Given the description of an element on the screen output the (x, y) to click on. 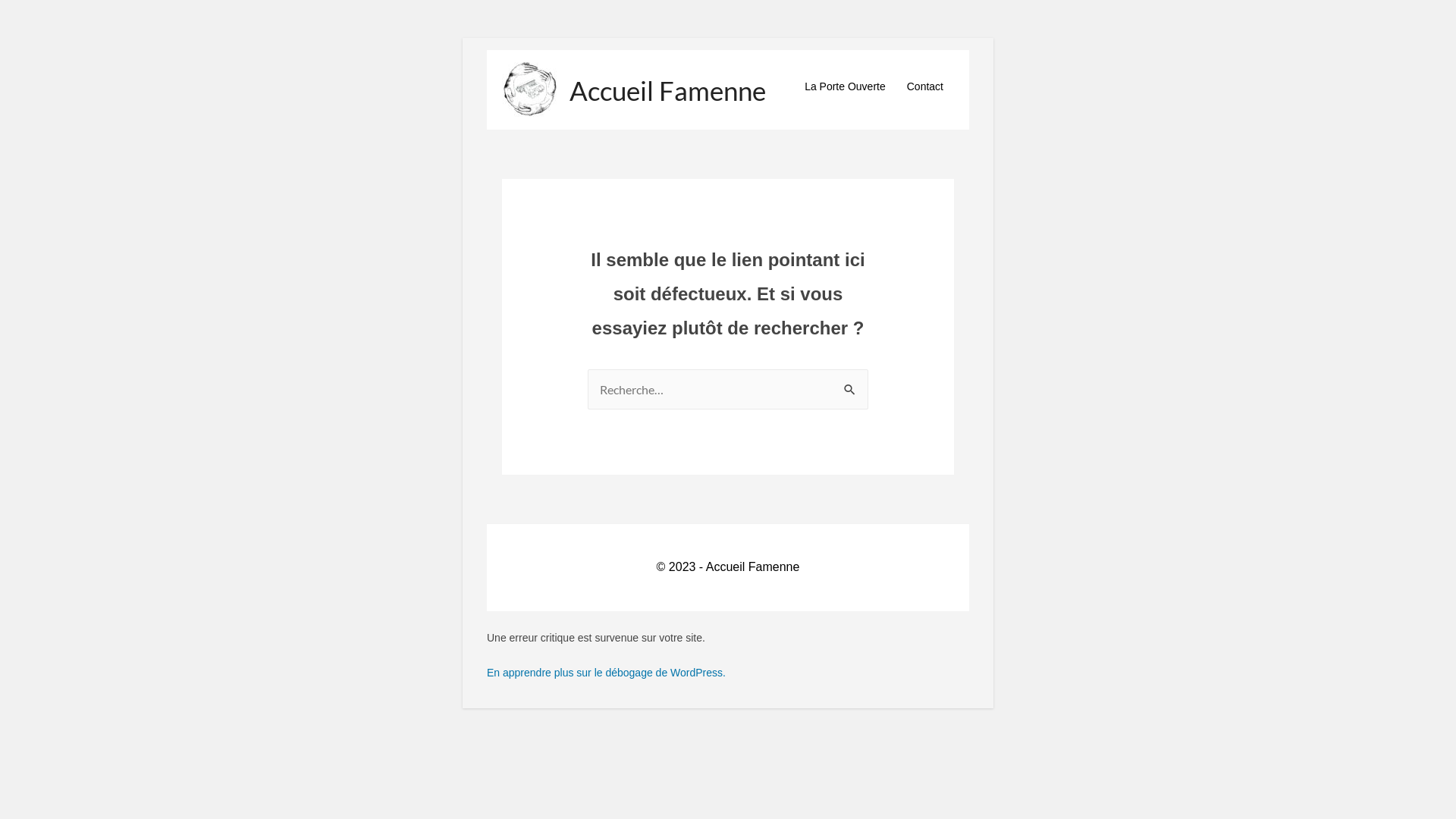
Rechercher Element type: text (851, 390)
Accueil Famenne Element type: text (667, 90)
Contact Element type: text (924, 86)
La Porte Ouverte Element type: text (844, 86)
